Given the description of an element on the screen output the (x, y) to click on. 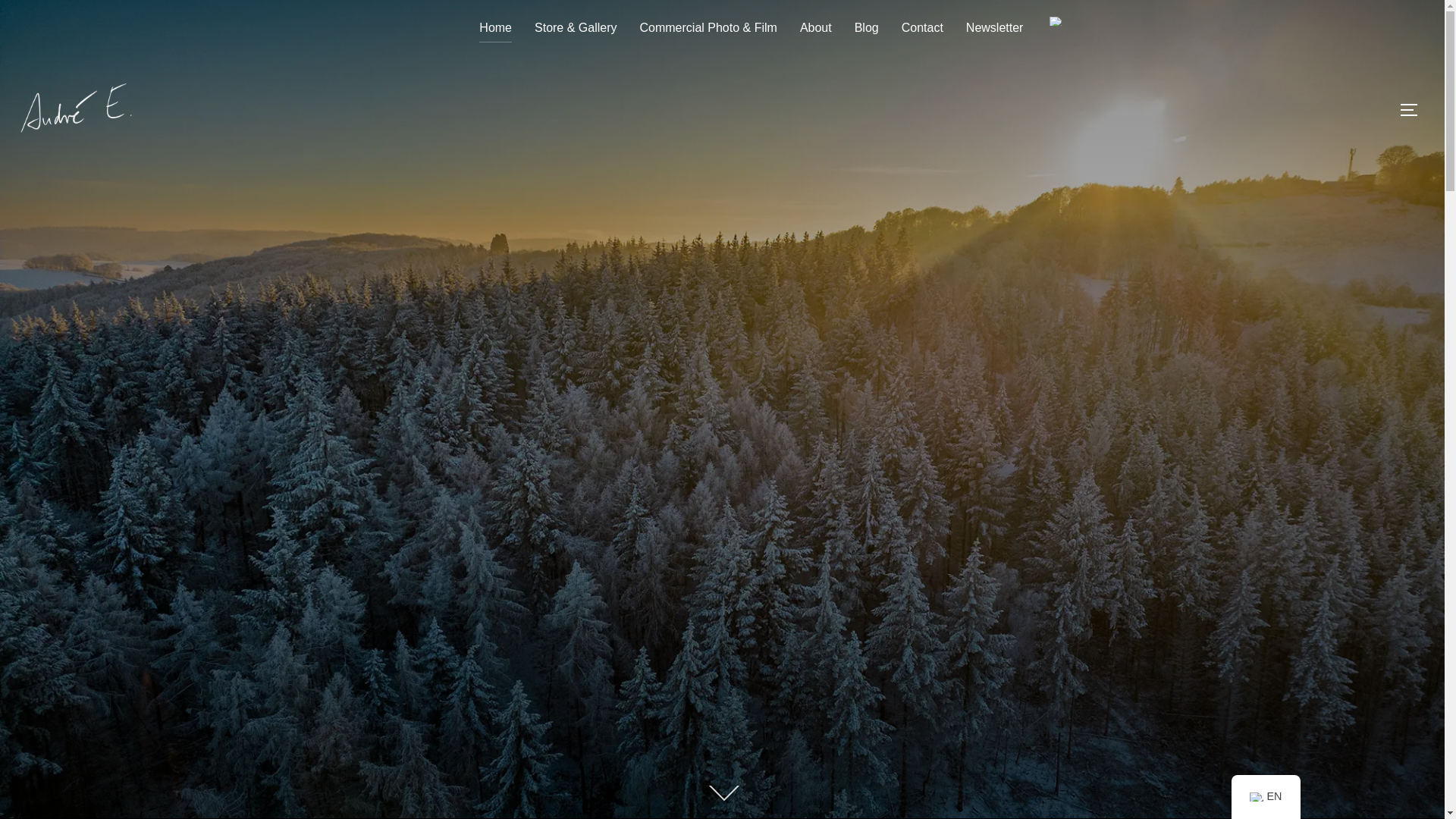
About (815, 27)
English (1256, 796)
Home (495, 27)
Contact (922, 27)
Scroll down to content (721, 794)
Newsletter (994, 27)
